Given the description of an element on the screen output the (x, y) to click on. 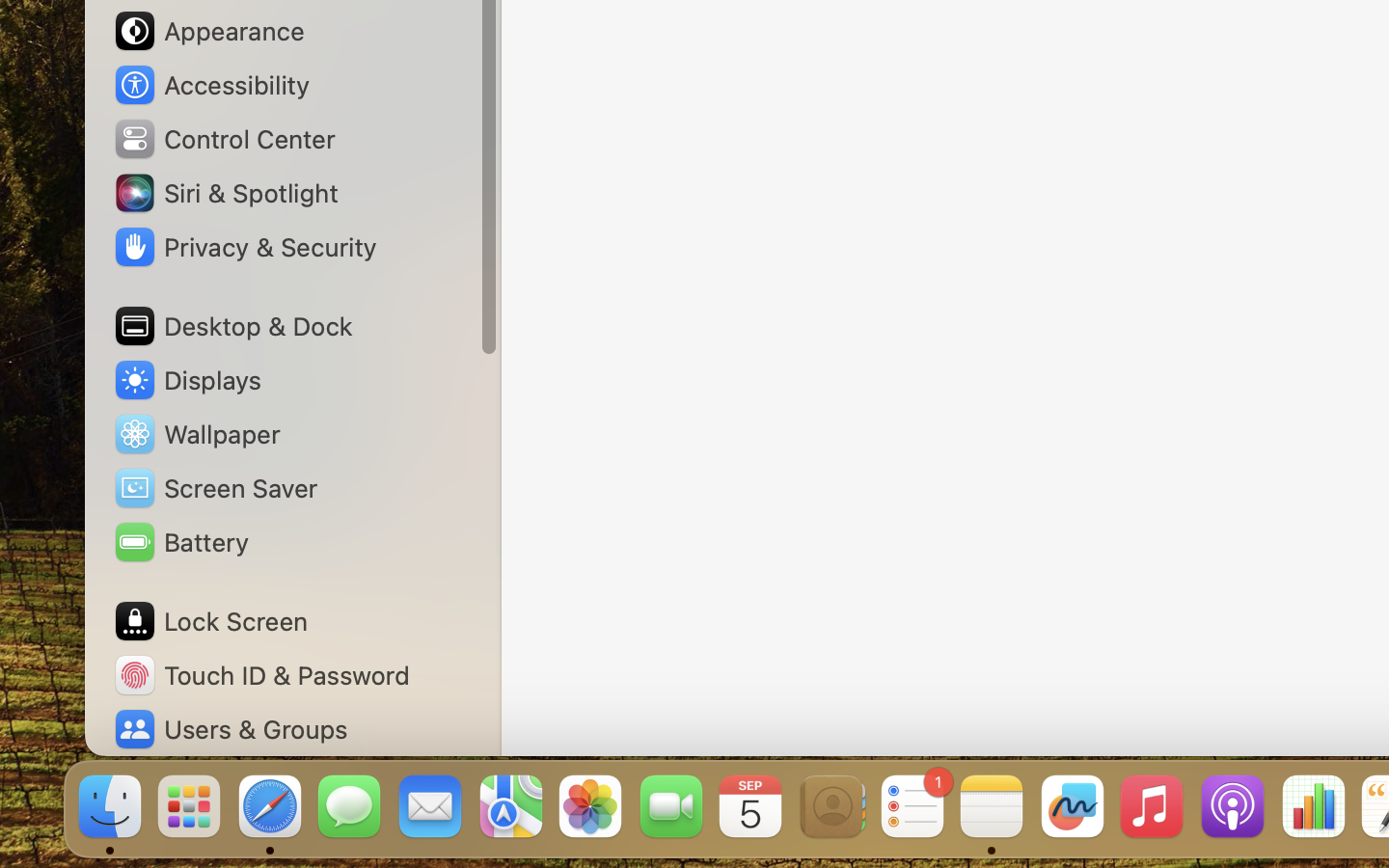
Accessibility Element type: AXStaticText (210, 84)
Privacy & Security Element type: AXStaticText (243, 246)
Screen Saver Element type: AXStaticText (214, 487)
Lock Screen Element type: AXStaticText (209, 620)
Appearance Element type: AXStaticText (207, 30)
